Given the description of an element on the screen output the (x, y) to click on. 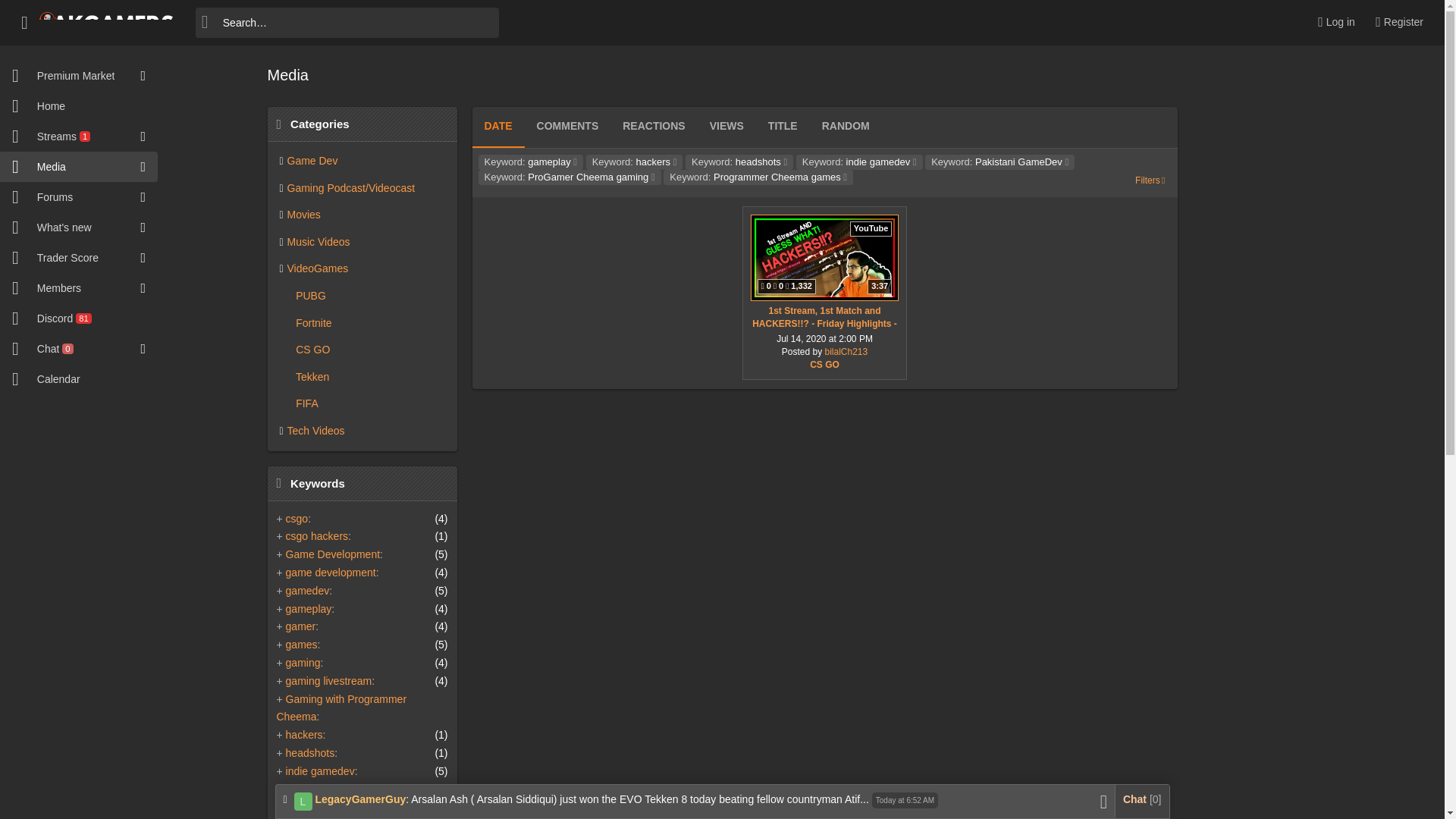
Remove this filter (999, 161)
Premium Market (69, 75)
Log in (1332, 22)
Remove this filter (758, 177)
Remove this filter (634, 161)
Remove this filter (739, 161)
Remove this filter (859, 161)
DATE COMMENTS REACTIONS VIEWS TITLE RANDOM (675, 127)
Remove this filter (69, 136)
Media (530, 161)
Register (69, 166)
Remove this filter (1395, 22)
Home (569, 177)
